Given the description of an element on the screen output the (x, y) to click on. 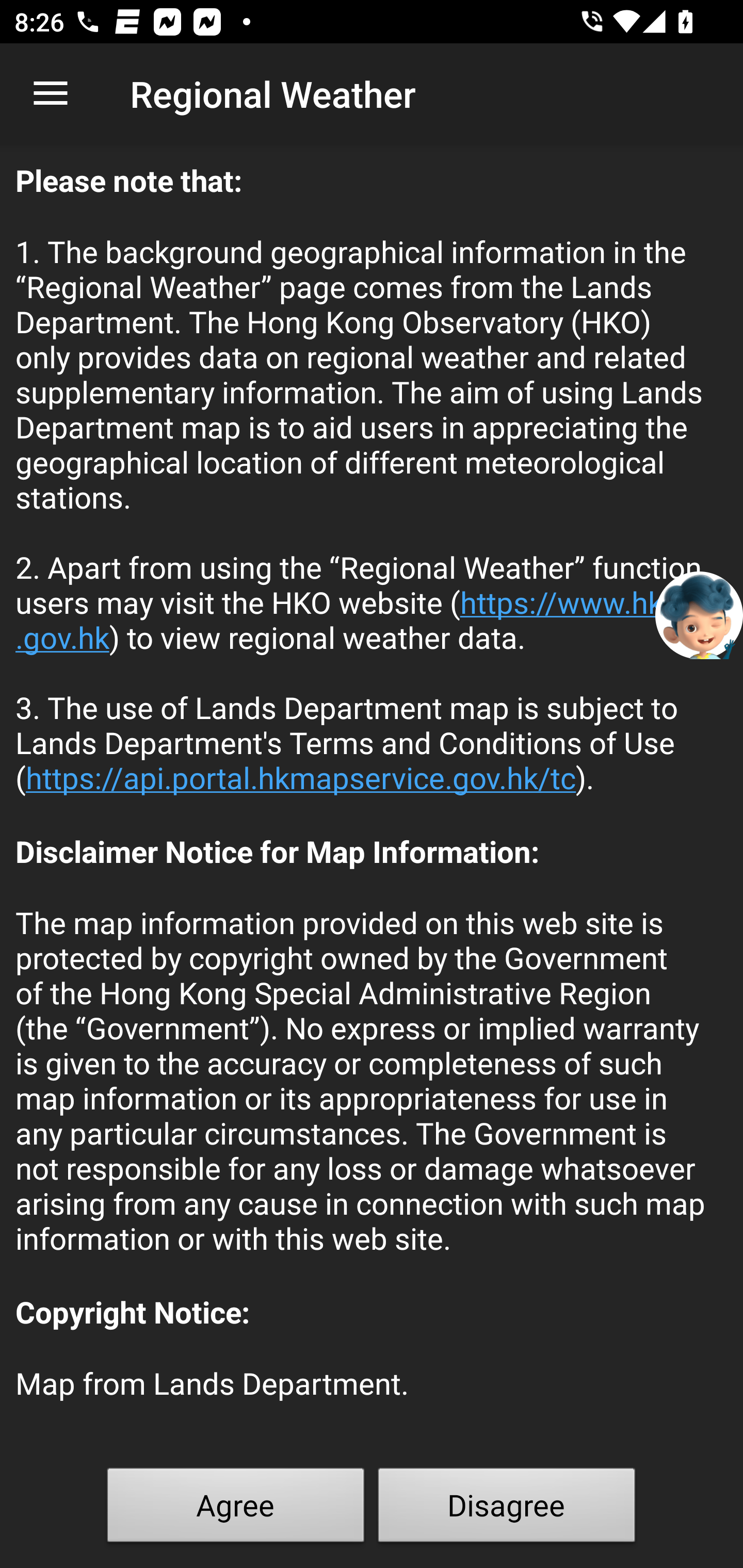
Navigate up (50, 93)
Chatbot (699, 614)
Agree (235, 1509)
Disagree (506, 1509)
